Given the description of an element on the screen output the (x, y) to click on. 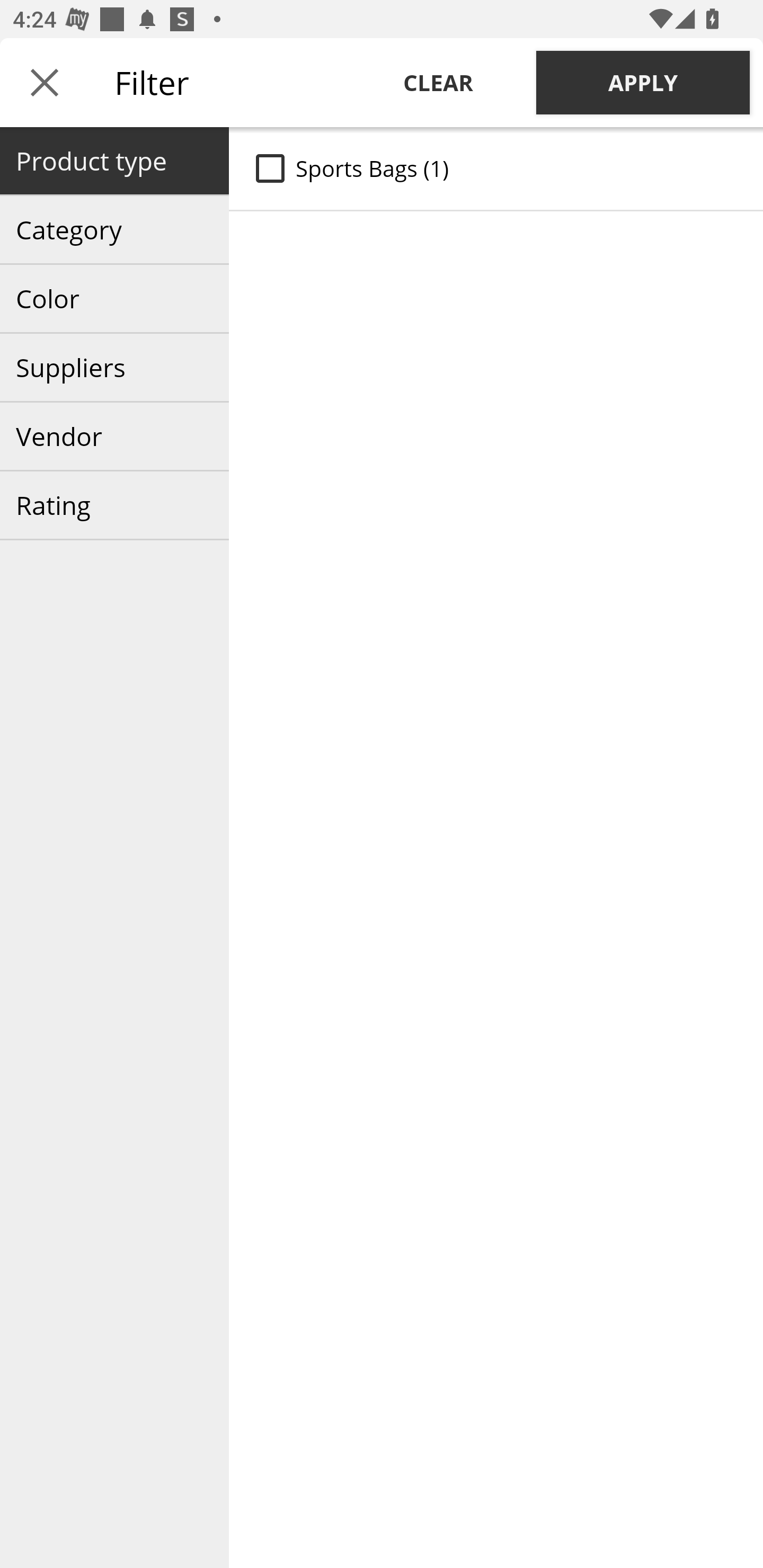
Navigate up (44, 82)
CLEAR (437, 82)
APPLY (643, 82)
Product type (114, 160)
Sports Bags (1) (495, 168)
Category (114, 229)
Color (114, 298)
Suppliers (114, 367)
Vendor (114, 436)
Rating (114, 505)
